Given the description of an element on the screen output the (x, y) to click on. 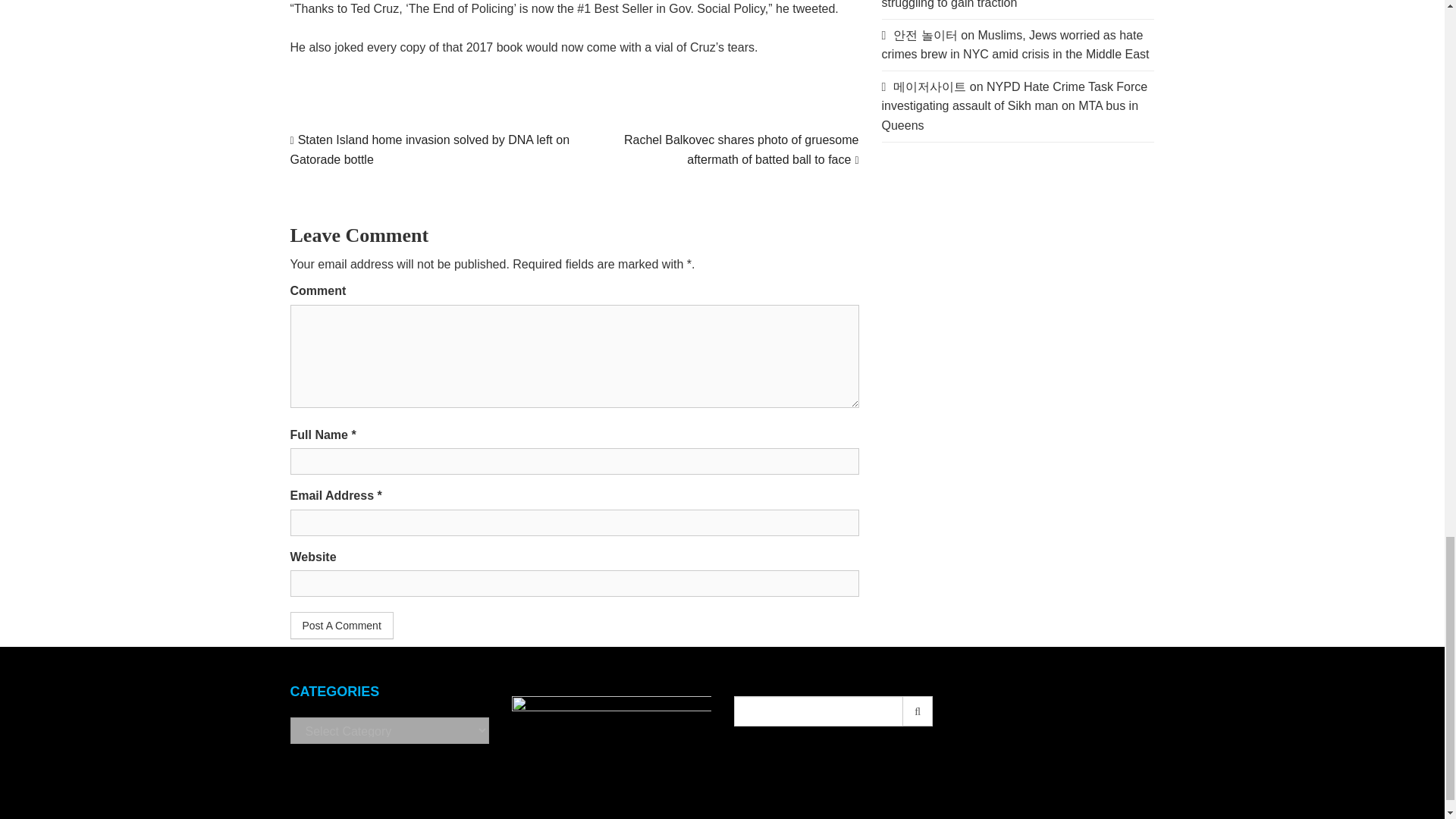
Post A Comment (341, 625)
Post A Comment (341, 625)
